Given the description of an element on the screen output the (x, y) to click on. 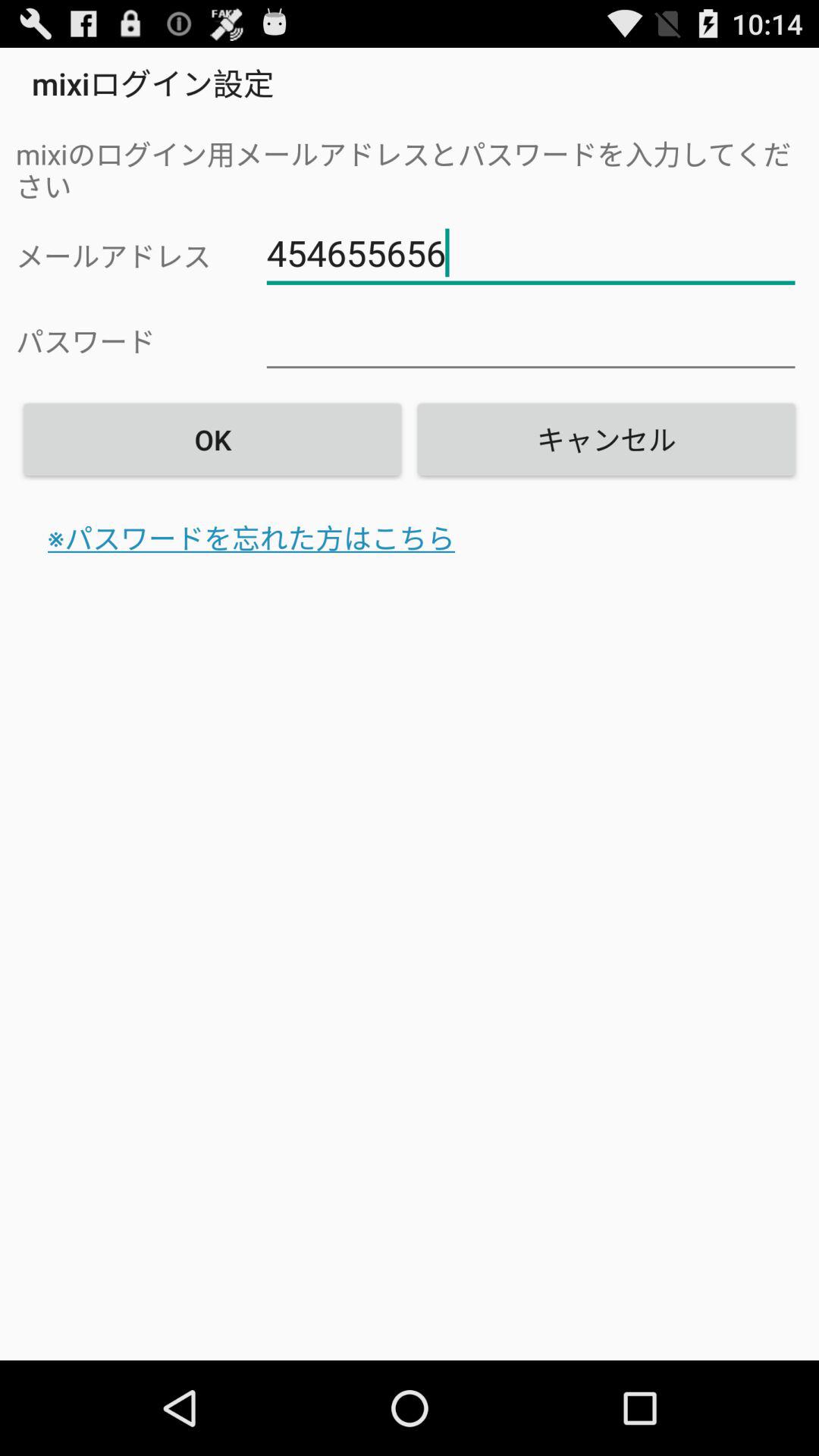
click the icon on the left (251, 537)
